Given the description of an element on the screen output the (x, y) to click on. 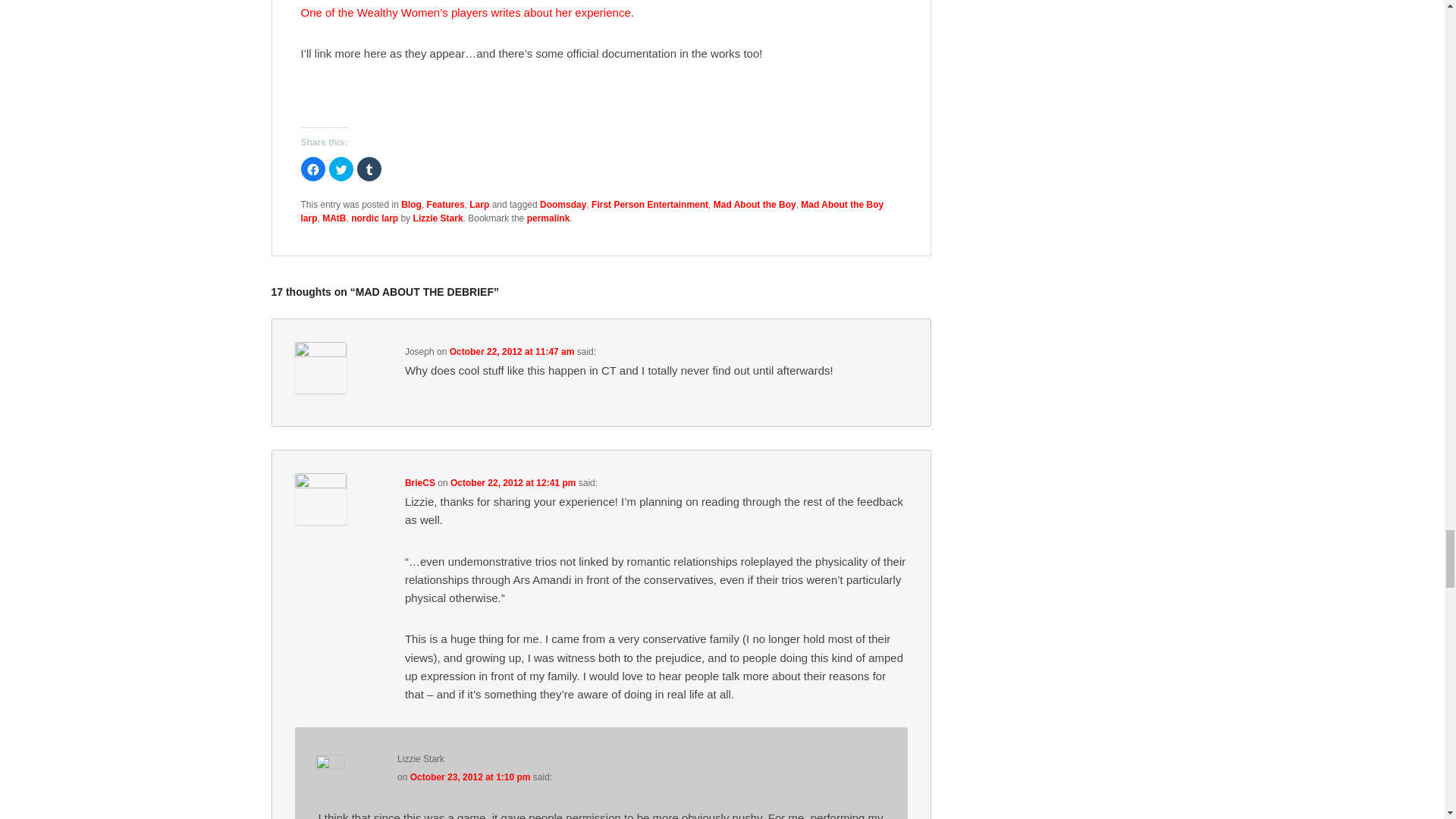
Features (445, 204)
First Person Entertainment (649, 204)
Click to share on Tumblr (368, 168)
Mad About the Boy (754, 204)
MAtB (333, 217)
Doomsday (563, 204)
Larp (478, 204)
nordic larp (373, 217)
Click to share on Twitter (341, 168)
Mad About the Boy larp (591, 211)
Blog (411, 204)
Click to share on Facebook (311, 168)
Permalink to Mad About the Debrief (548, 217)
